Given the description of an element on the screen output the (x, y) to click on. 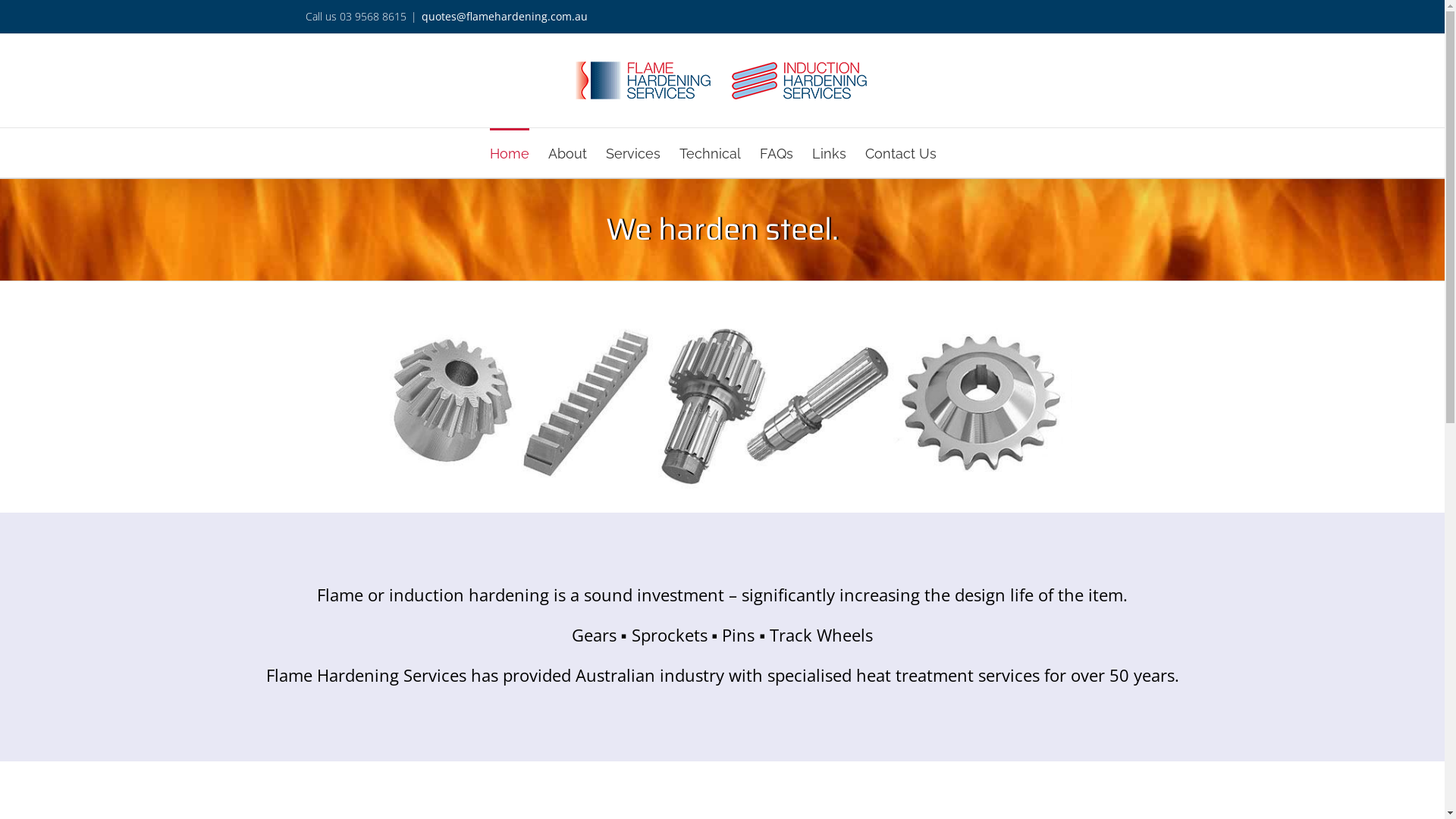
Home Element type: text (509, 152)
Contact Us Element type: text (899, 152)
Services Element type: text (632, 152)
FAQs Element type: text (776, 152)
quotes@flamehardening.com.au Element type: text (504, 16)
Links Element type: text (828, 152)
home-header-4 Element type: hover (721, 404)
Technical Element type: text (709, 152)
About Element type: text (566, 152)
